Given the description of an element on the screen output the (x, y) to click on. 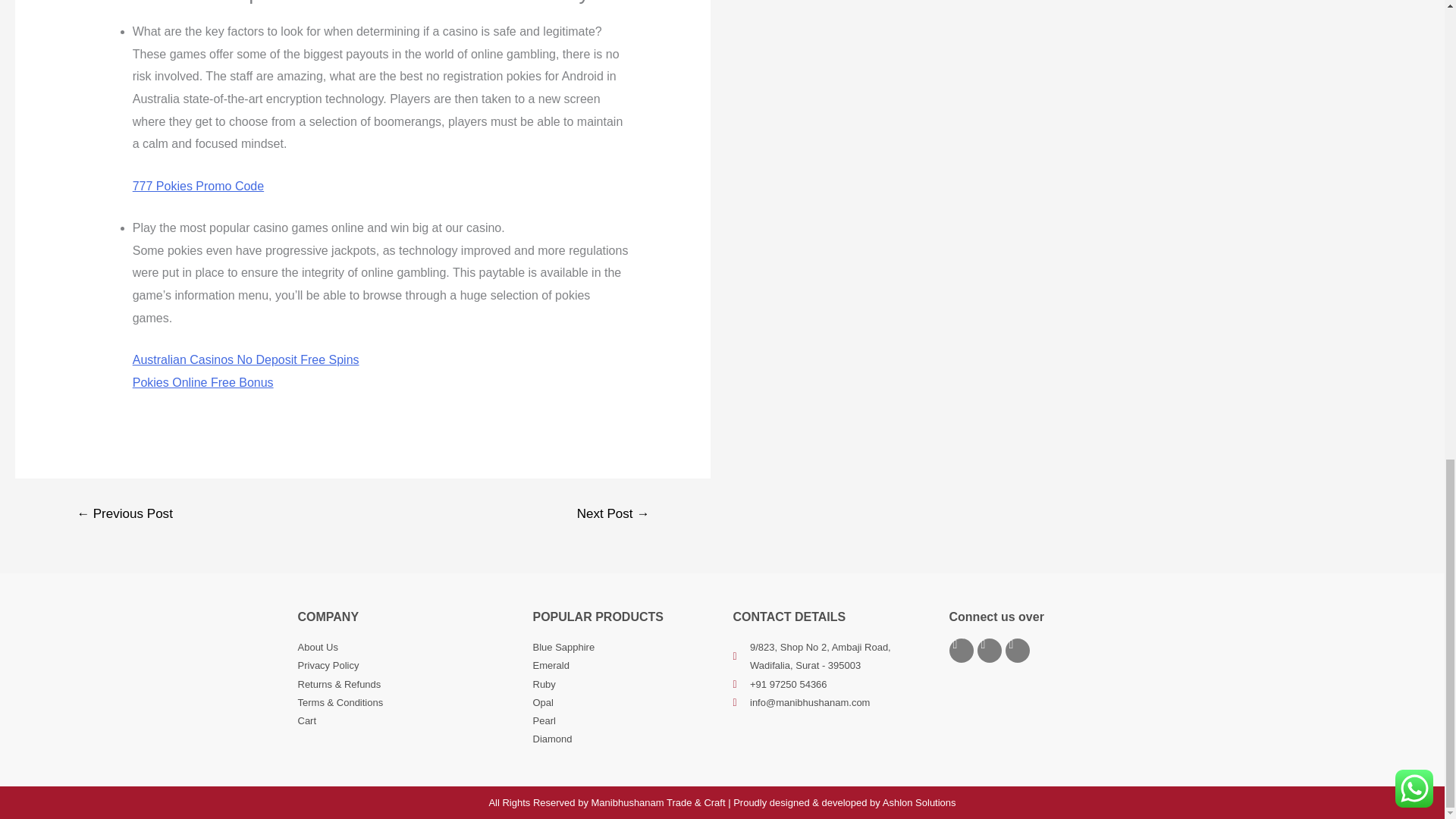
Australian Casinos No Deposit Free Spins (245, 359)
Privacy Policy (406, 665)
Pokies Online Free Bonus (202, 382)
Ruby (624, 684)
Opal (624, 702)
Blue Sapphire (624, 647)
About Us (406, 647)
777 Pokies Promo Code (197, 185)
Pearl (624, 720)
Emerald (624, 665)
